Given the description of an element on the screen output the (x, y) to click on. 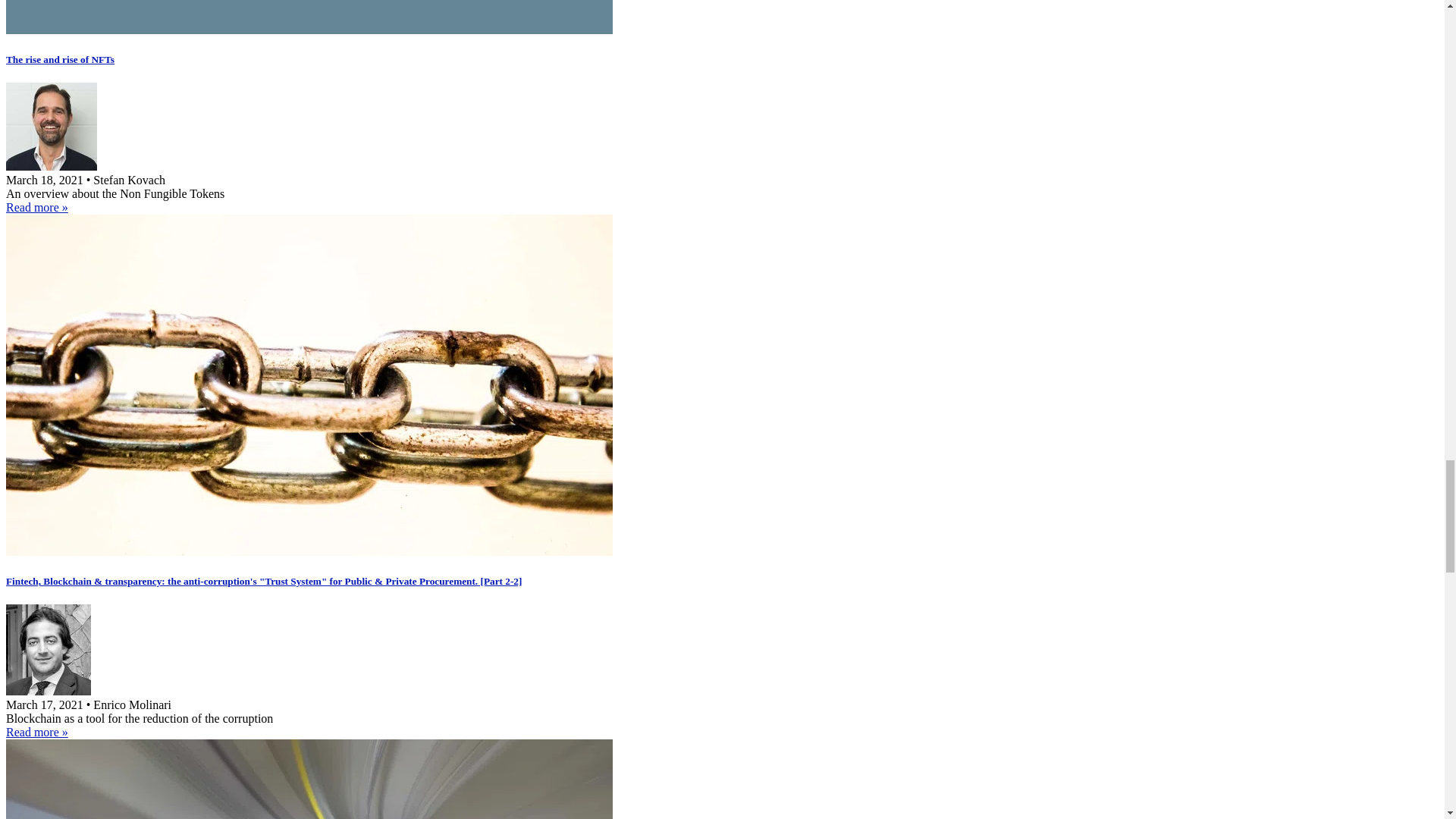
The rise and rise of NFTs (60, 59)
The rise and rise of NFTs (308, 29)
The rise and rise of NFTs (36, 206)
Stefan Kovach (51, 165)
Enrico Molinari (47, 690)
